Given the description of an element on the screen output the (x, y) to click on. 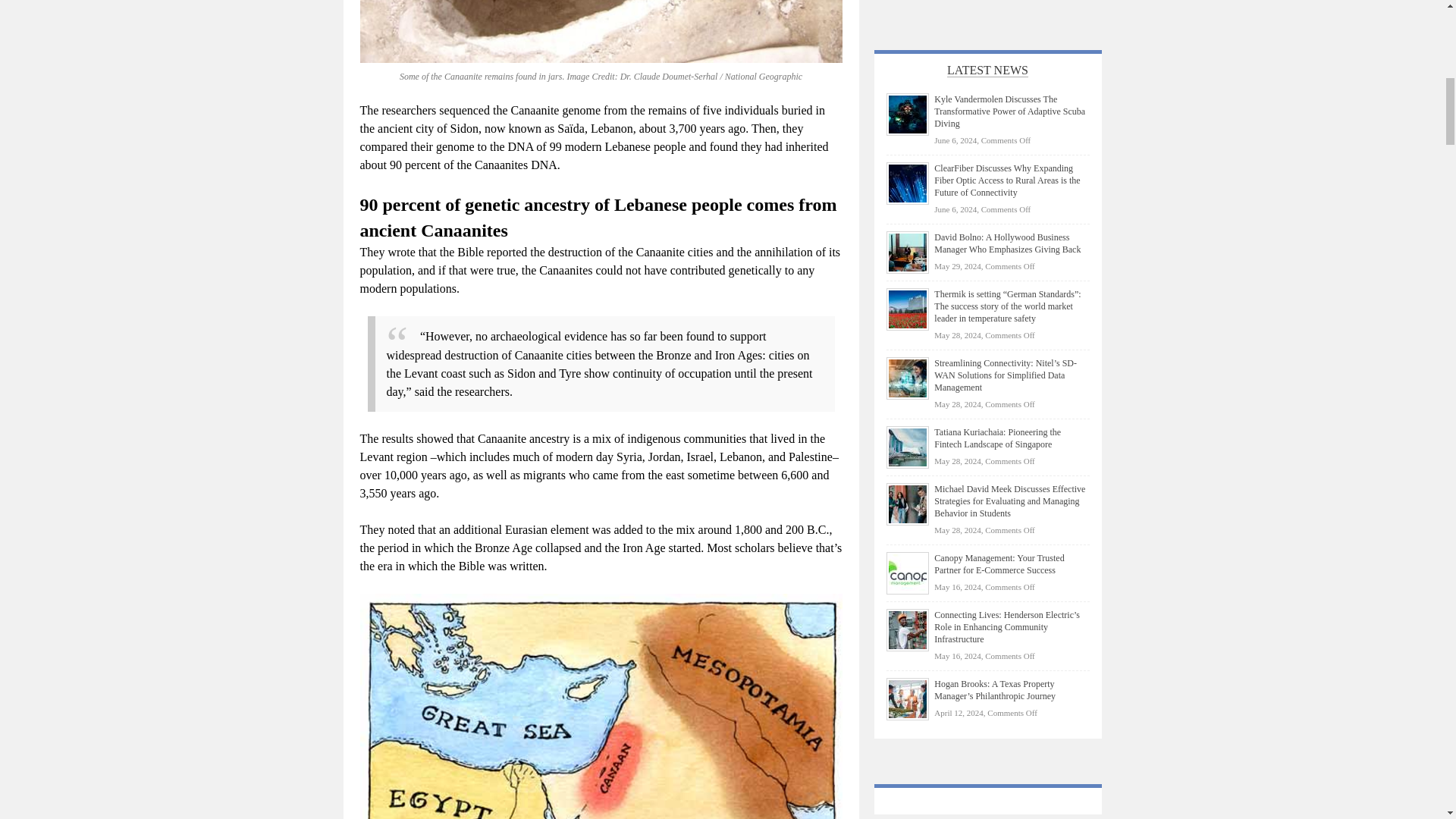
Advertisement (986, 11)
